Given the description of an element on the screen output the (x, y) to click on. 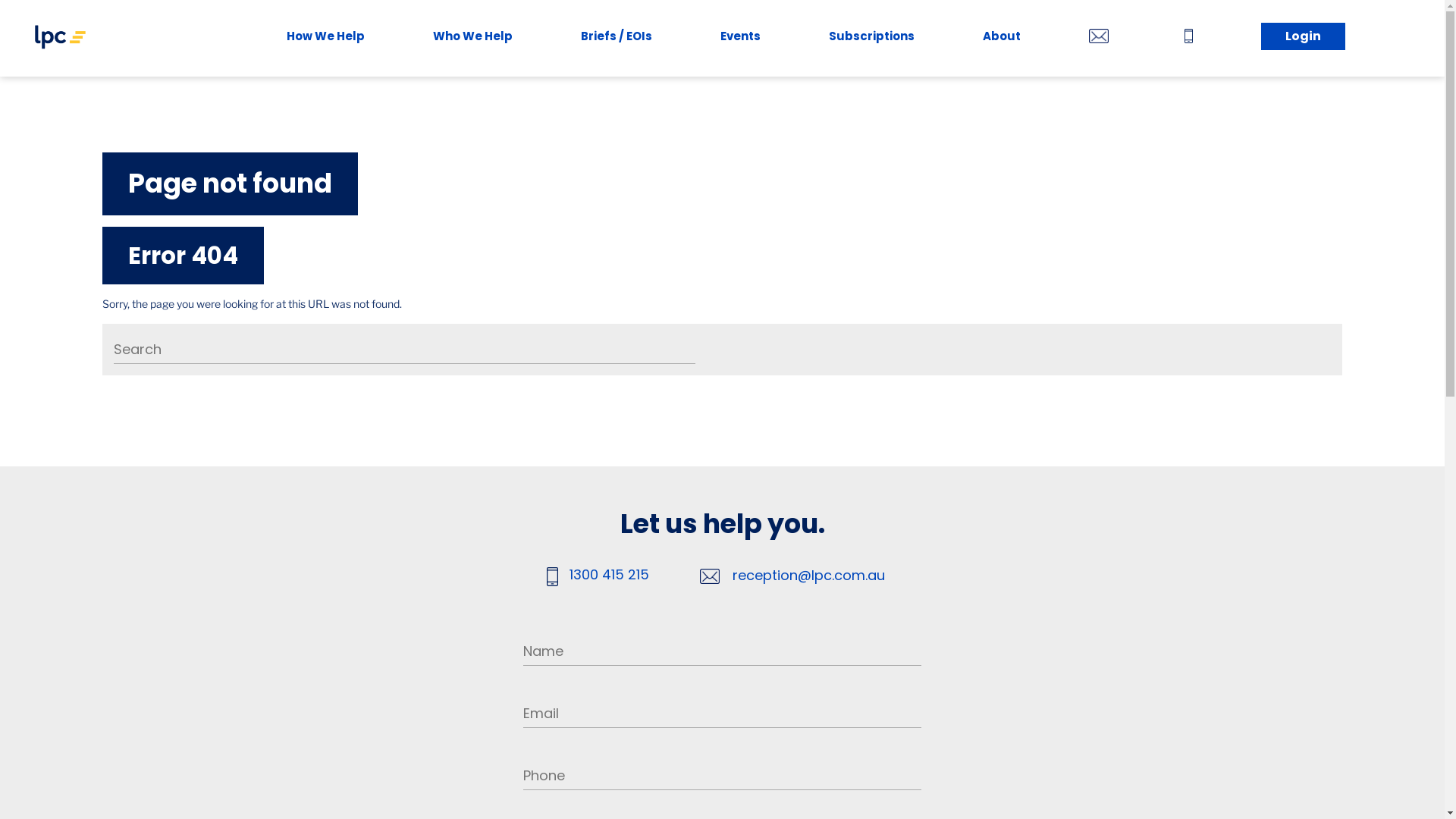
reception@lpc.com.au Element type: text (808, 576)
phone Element type: text (1192, 39)
Subscriptions Element type: text (871, 37)
1300 415 215 Element type: text (609, 575)
How We Help Element type: text (325, 37)
Login Element type: text (1303, 37)
Briefs / EOIs Element type: text (616, 37)
Contact Element type: text (1102, 39)
Who We Help Element type: text (472, 37)
Events Element type: text (740, 37)
Send Element type: text (715, 274)
About Element type: text (1001, 37)
